Given the description of an element on the screen output the (x, y) to click on. 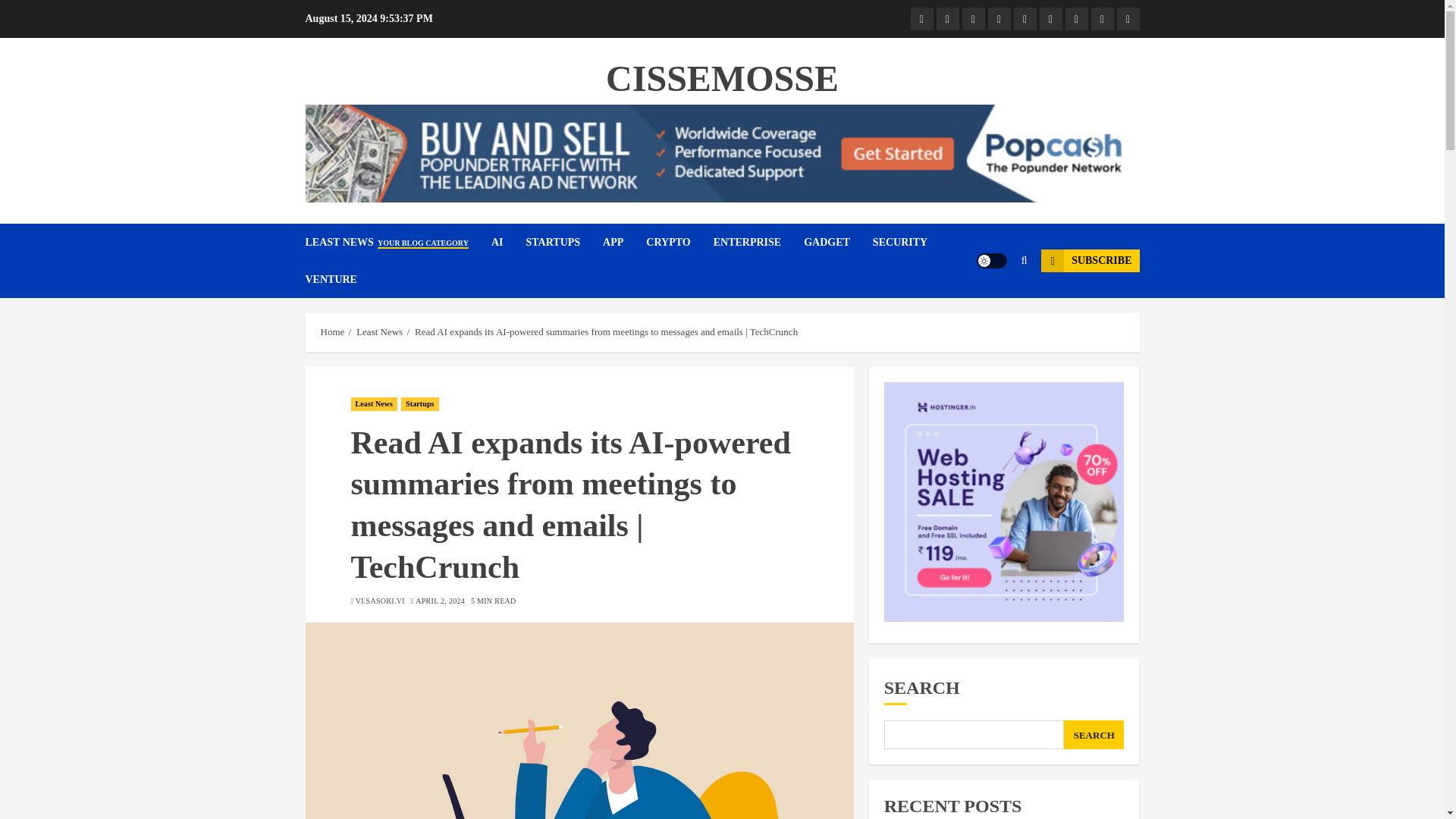
Venture (1127, 18)
Least News (379, 331)
AI (947, 18)
SECURITY (911, 242)
SUBSCRIBE (1089, 260)
Gadget (1075, 18)
Least News (921, 18)
APRIL 2, 2024 (439, 601)
VENTURE (330, 279)
APP (624, 242)
